Given the description of an element on the screen output the (x, y) to click on. 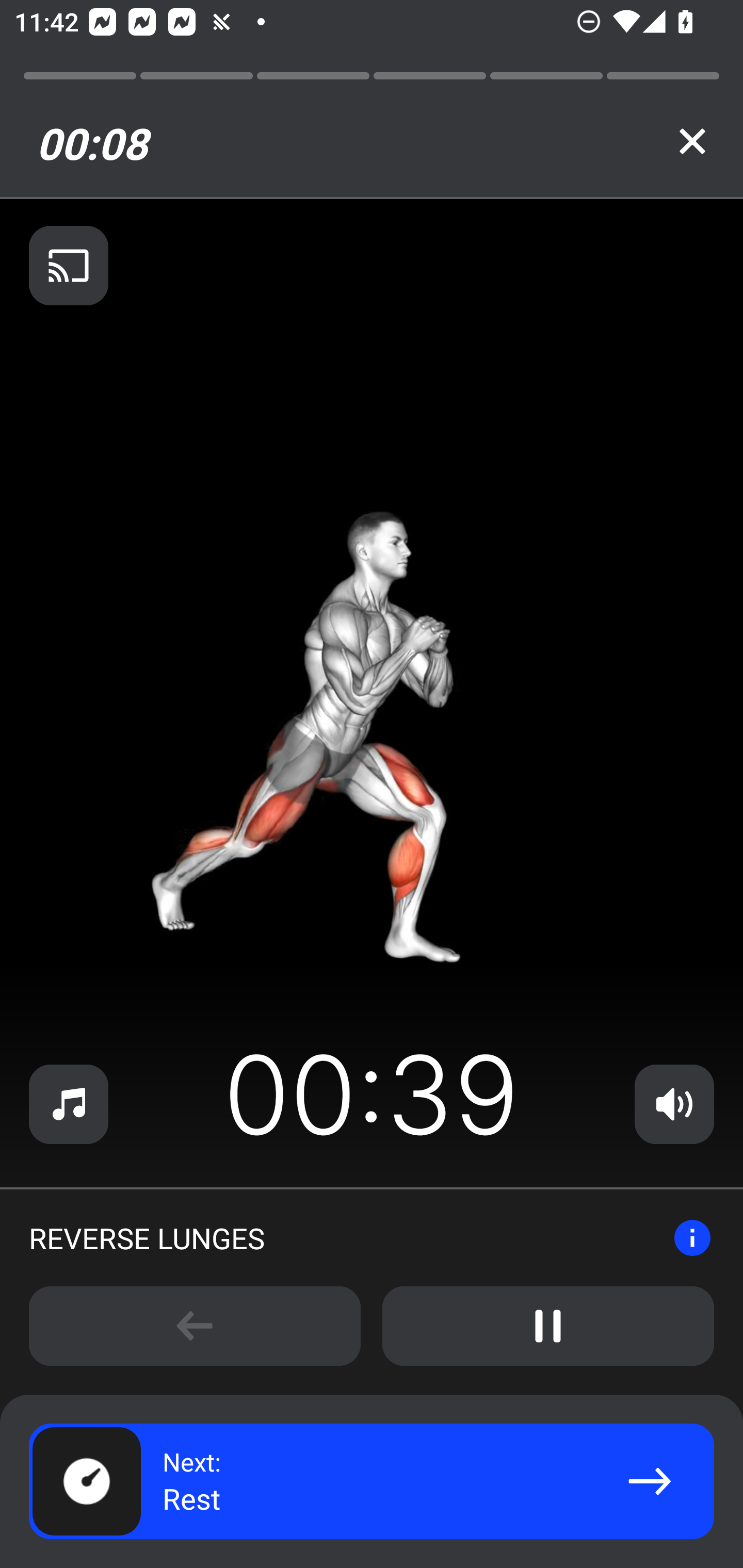
Next: Rest (371, 1481)
